Given the description of an element on the screen output the (x, y) to click on. 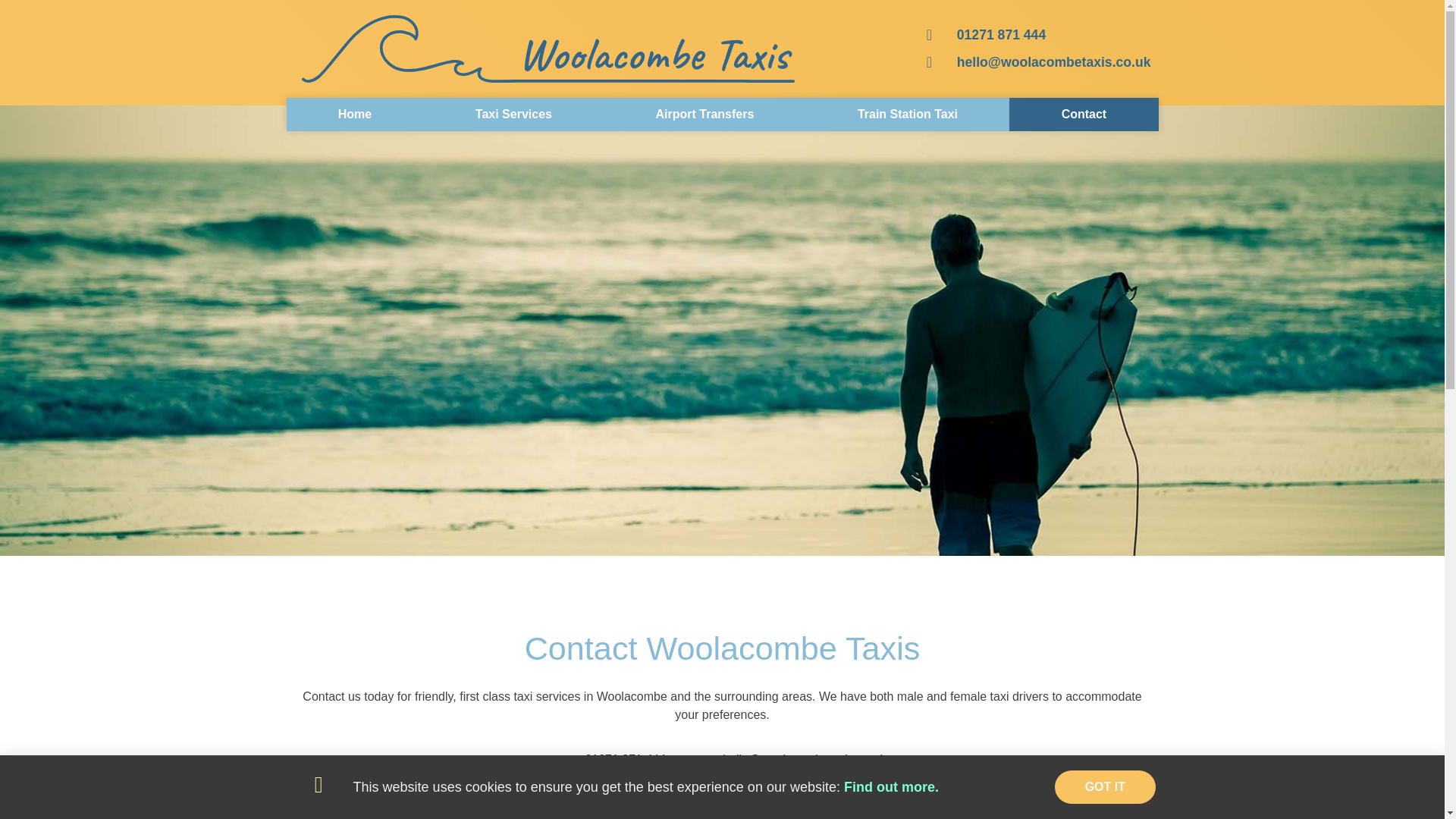
GOT IT (1105, 786)
Taxi Services (513, 114)
01271 871 444 (611, 760)
Find out more. (891, 786)
Home (354, 114)
Contact (1083, 114)
Airport Transfers (704, 114)
Train Station Taxi (908, 114)
01271 871 444 (1038, 35)
